Given the description of an element on the screen output the (x, y) to click on. 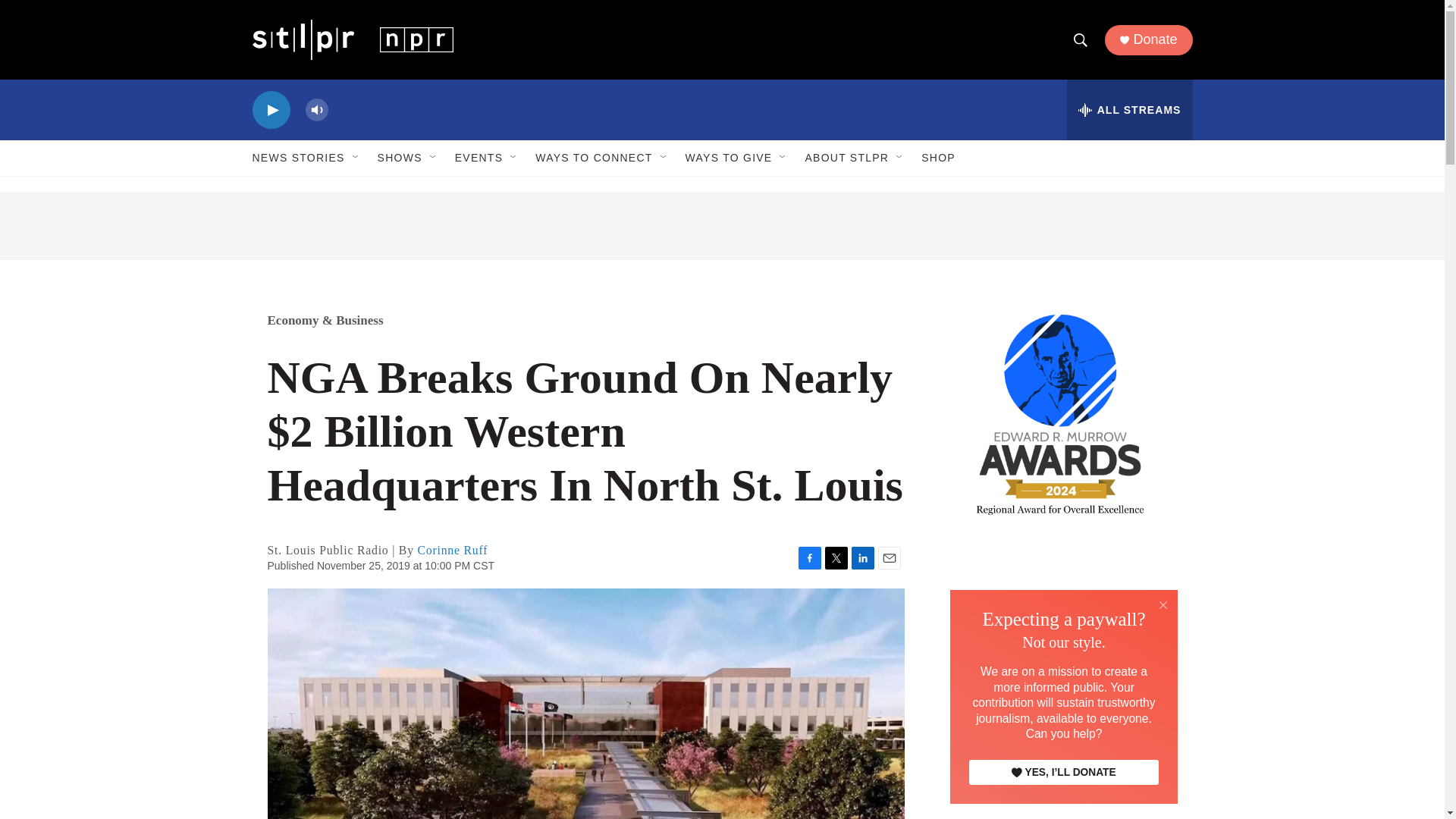
3rd party ad content (1062, 650)
Close (1162, 604)
Close (1162, 605)
3rd party ad content (721, 225)
3rd party ad content (1062, 797)
